Given the description of an element on the screen output the (x, y) to click on. 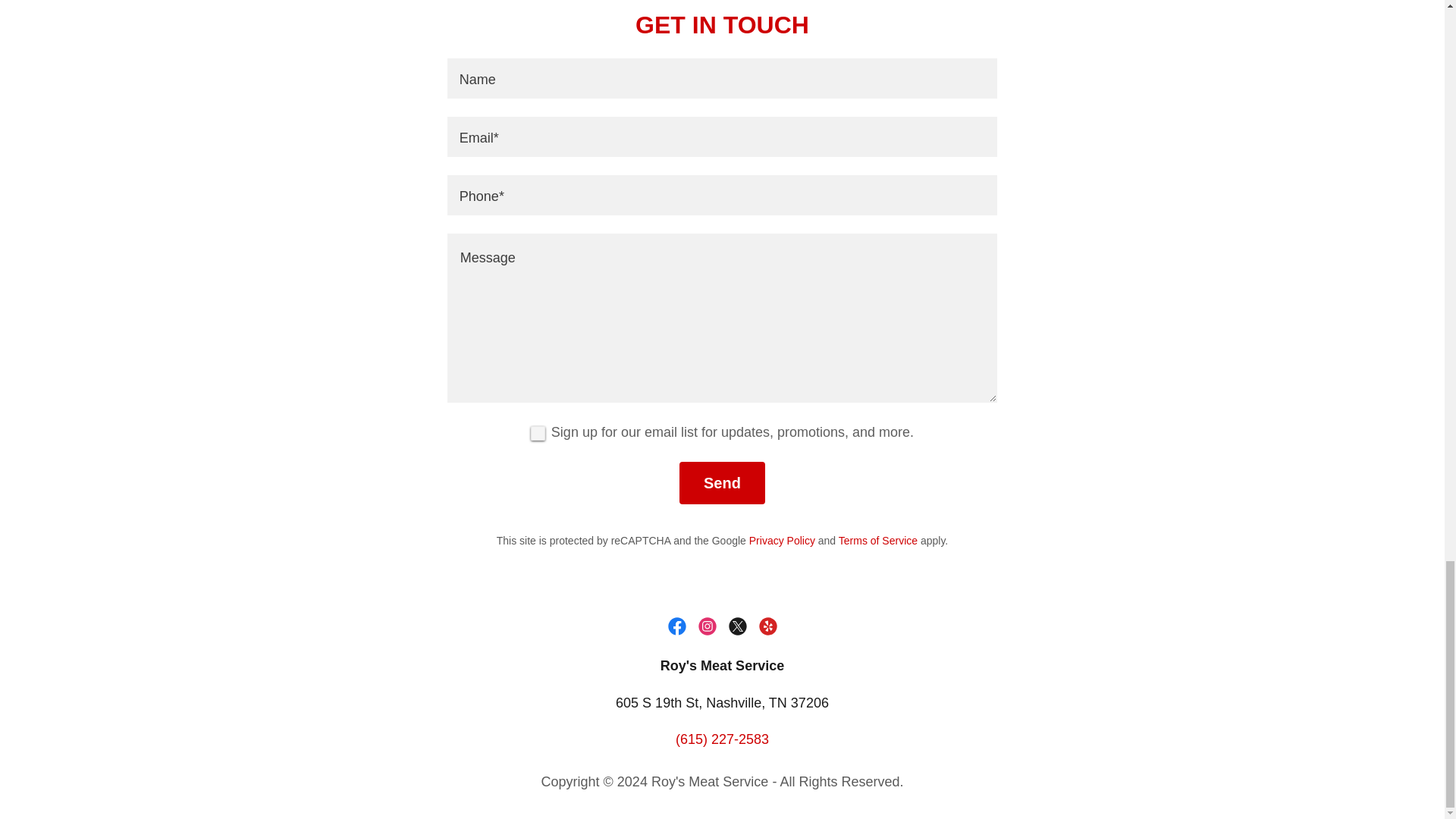
Privacy Policy (782, 540)
Terms of Service (877, 540)
Send (722, 482)
